Given the description of an element on the screen output the (x, y) to click on. 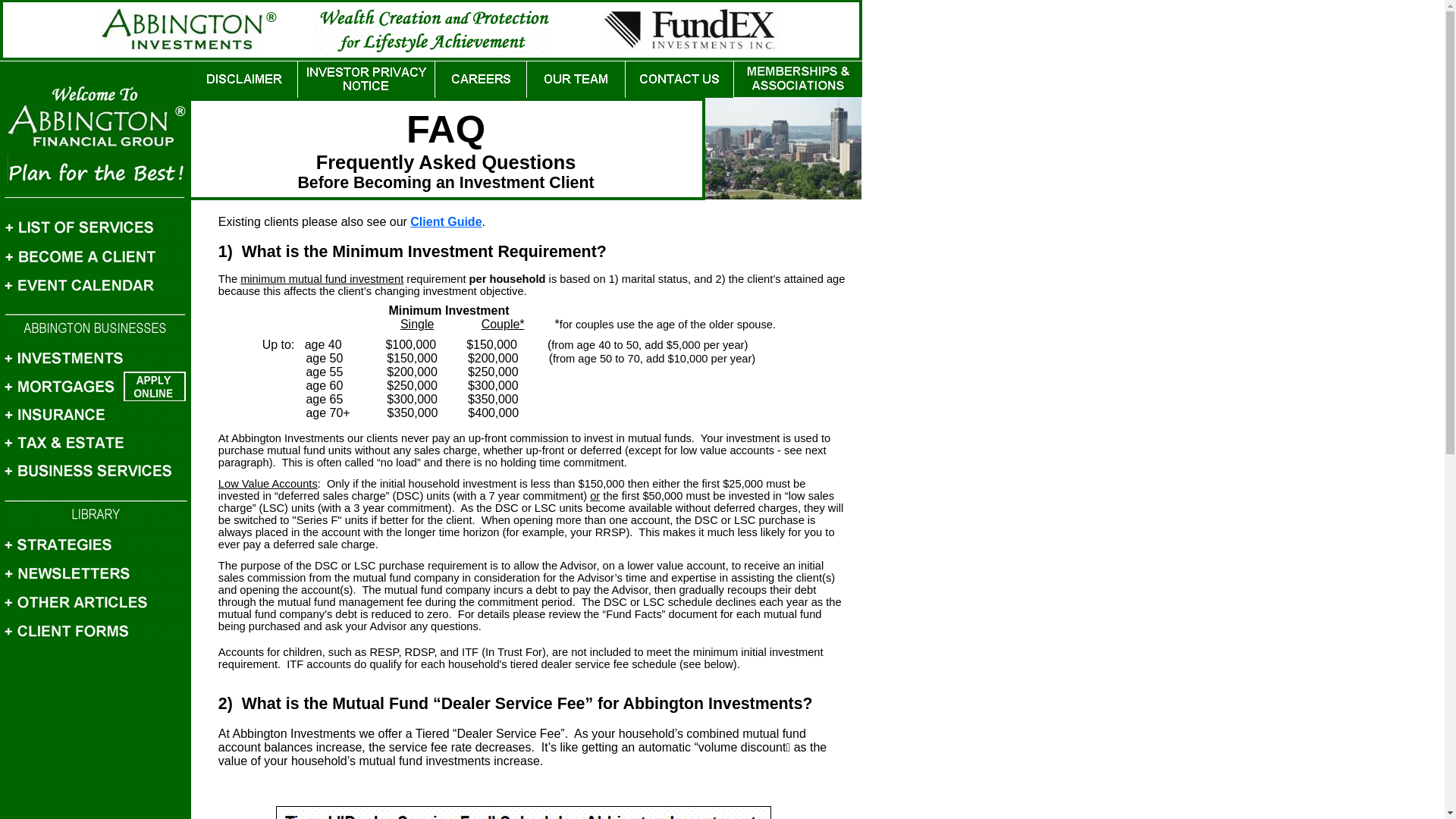
Client Guide Element type: text (445, 221)
